Given the description of an element on the screen output the (x, y) to click on. 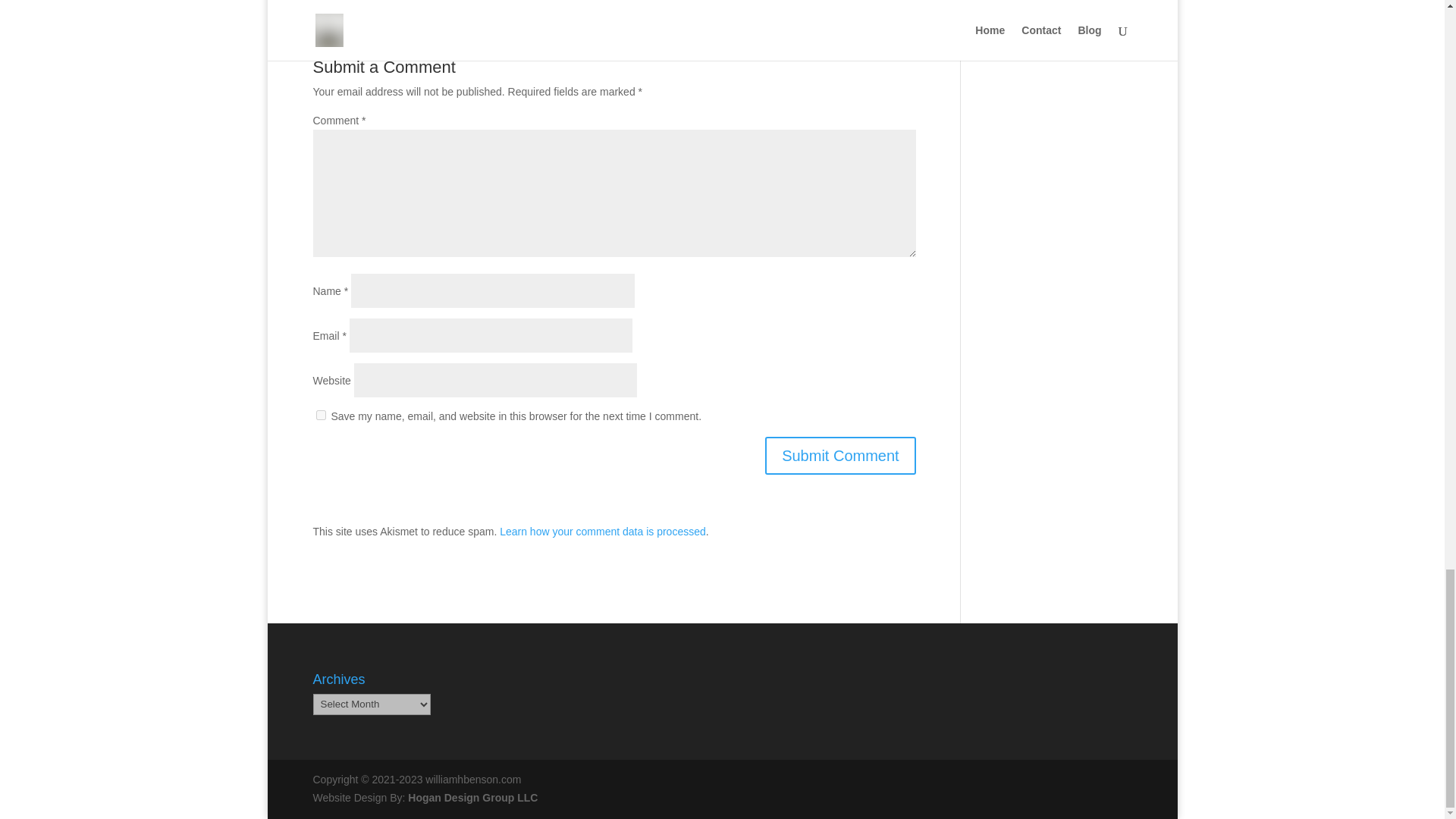
Learn how your comment data is processed (602, 531)
Hogan Design Group LLC (472, 797)
yes (319, 415)
Submit Comment (840, 455)
Submit Comment (840, 455)
